Given the description of an element on the screen output the (x, y) to click on. 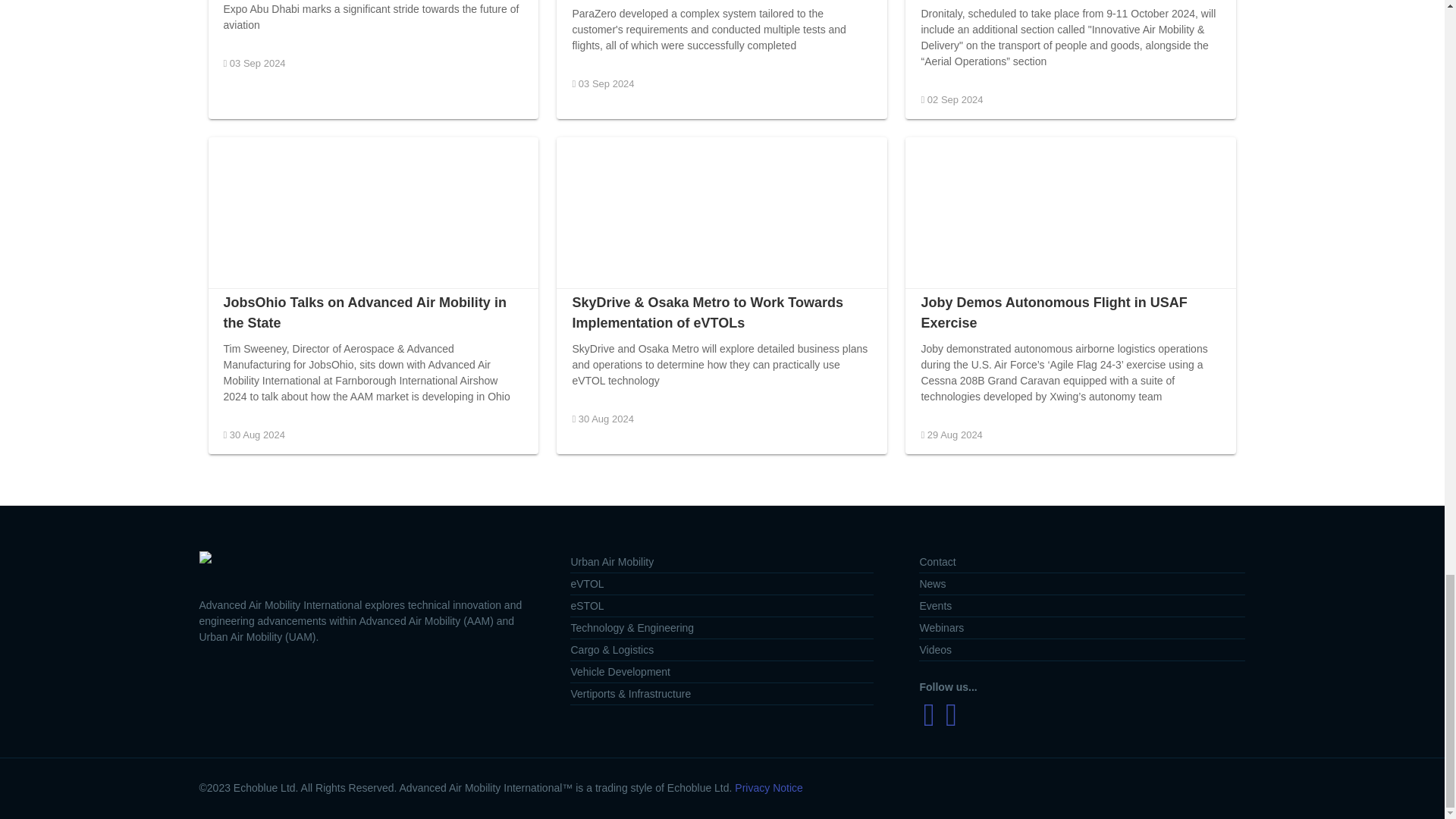
Urban Air Mobility (721, 562)
eVTOL (721, 584)
eSTOL (721, 606)
